Given the description of an element on the screen output the (x, y) to click on. 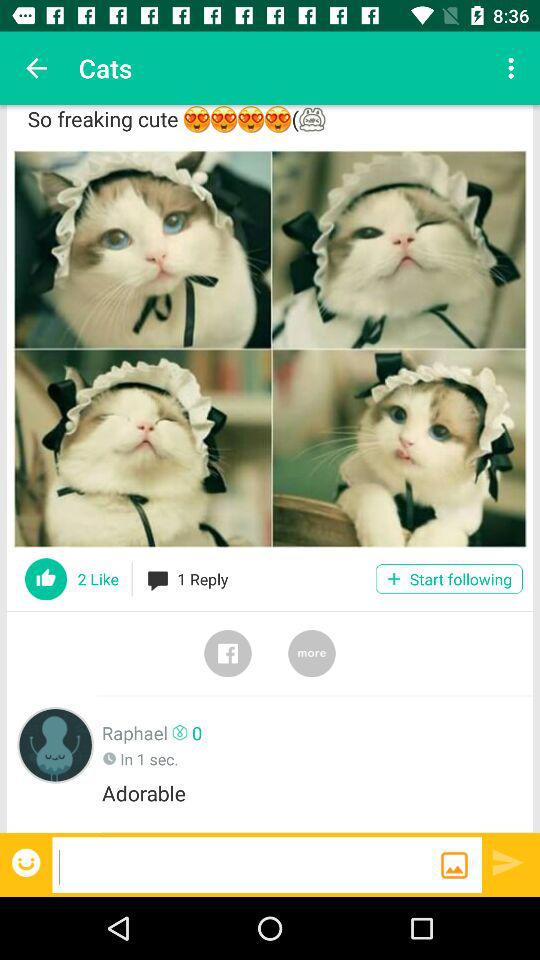
input a search term (246, 864)
